Given the description of an element on the screen output the (x, y) to click on. 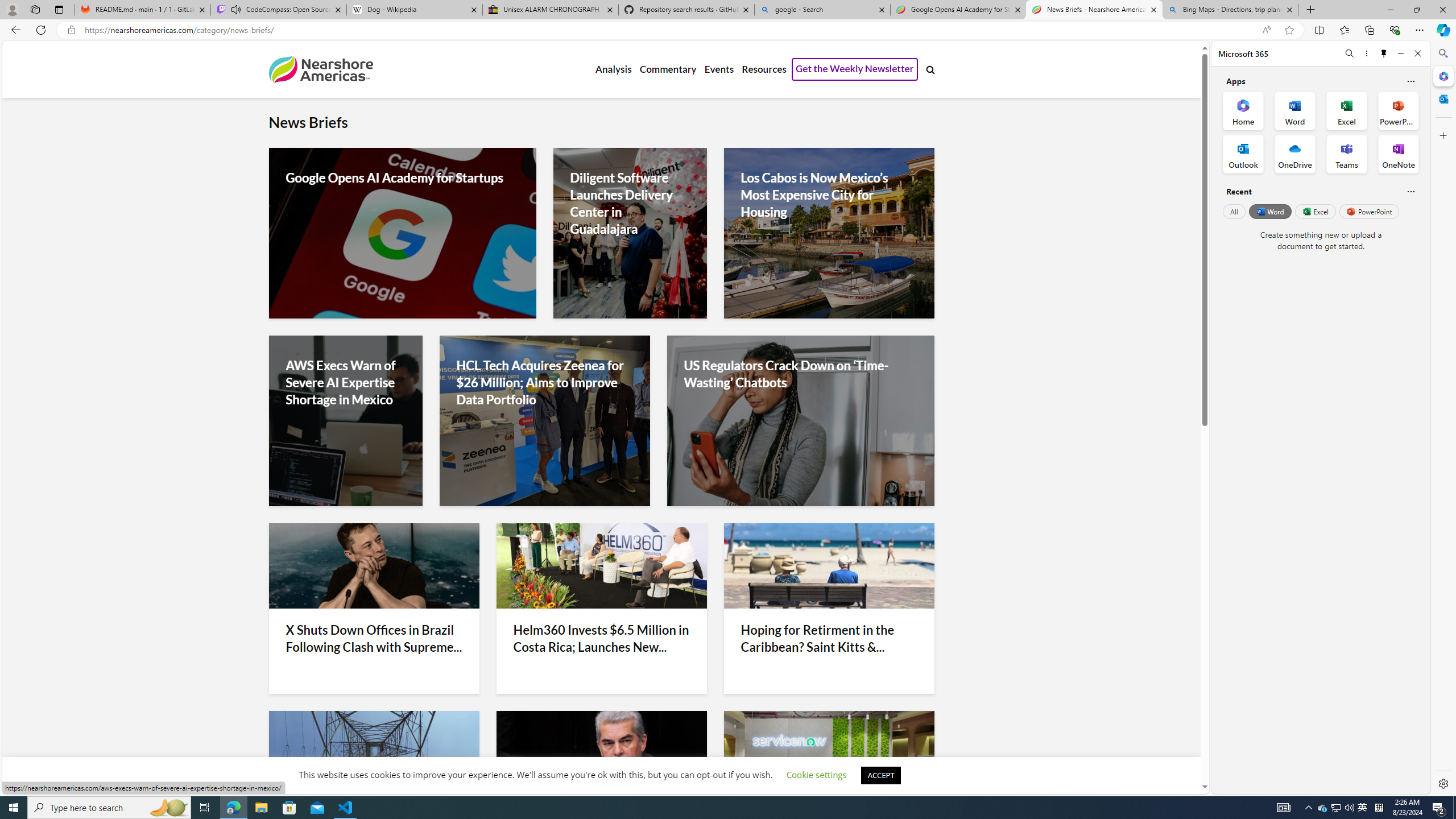
Get the Weekly Newsletter (854, 69)
Musk Brazil X (373, 565)
Helm360 Invests $6.5 Million in Costa Rica; Launches New... (601, 638)
Google Opens AI Academy for Startups (402, 177)
Nearshore Americas (319, 68)
Hoping for Retirment in the Caribbean? Saint Kitts &... (829, 638)
Nearshore Americas (319, 68)
